Given the description of an element on the screen output the (x, y) to click on. 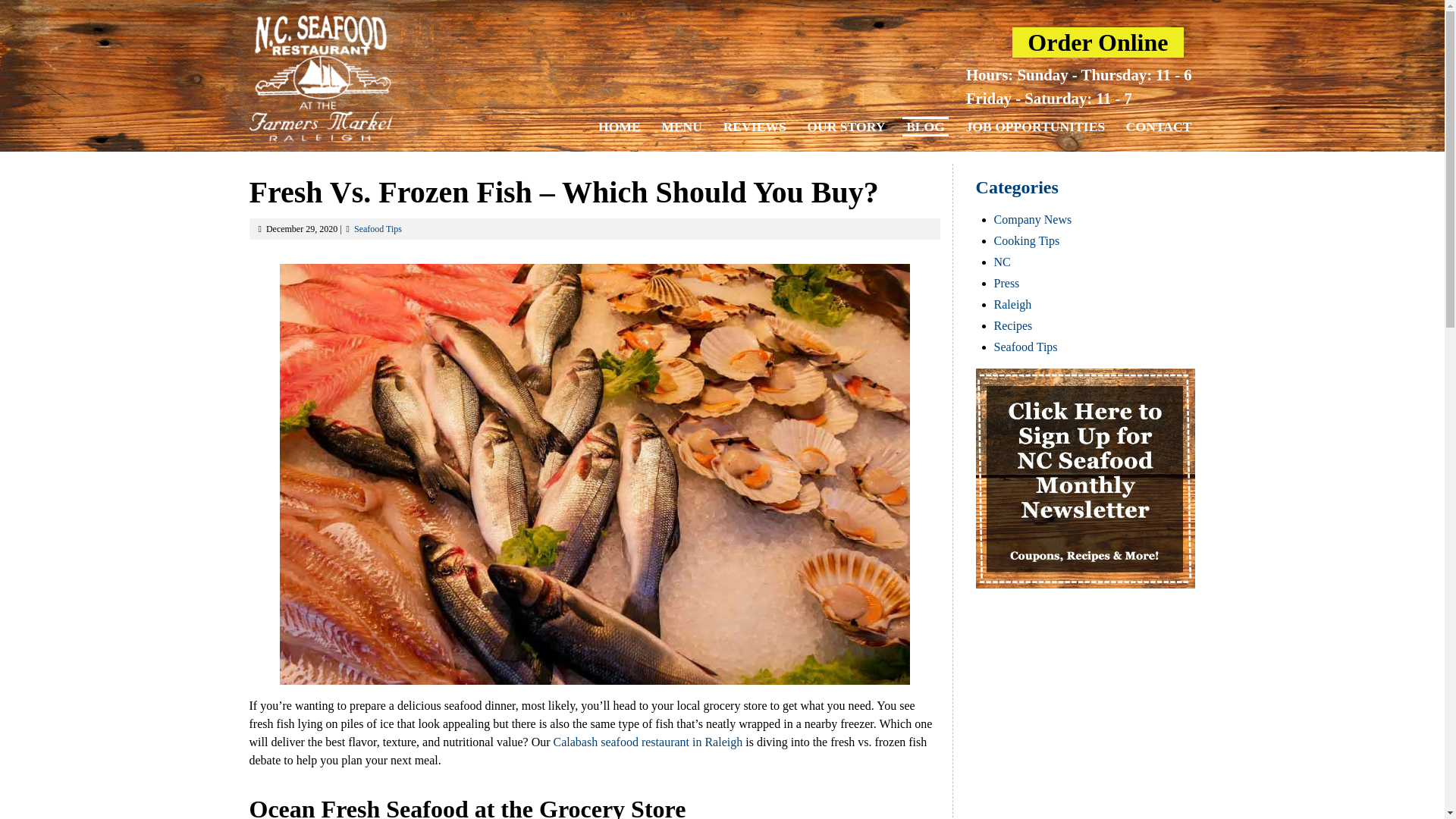
REVIEWS (754, 126)
Seafood Tips (377, 228)
Calabash seafood restaurant in Raleigh (647, 741)
HOME (619, 126)
Cooking Tips (1026, 240)
Seafood Tips (1026, 346)
Recipes (1013, 325)
MENU (682, 126)
Press (1007, 282)
BLOG (925, 126)
